Given the description of an element on the screen output the (x, y) to click on. 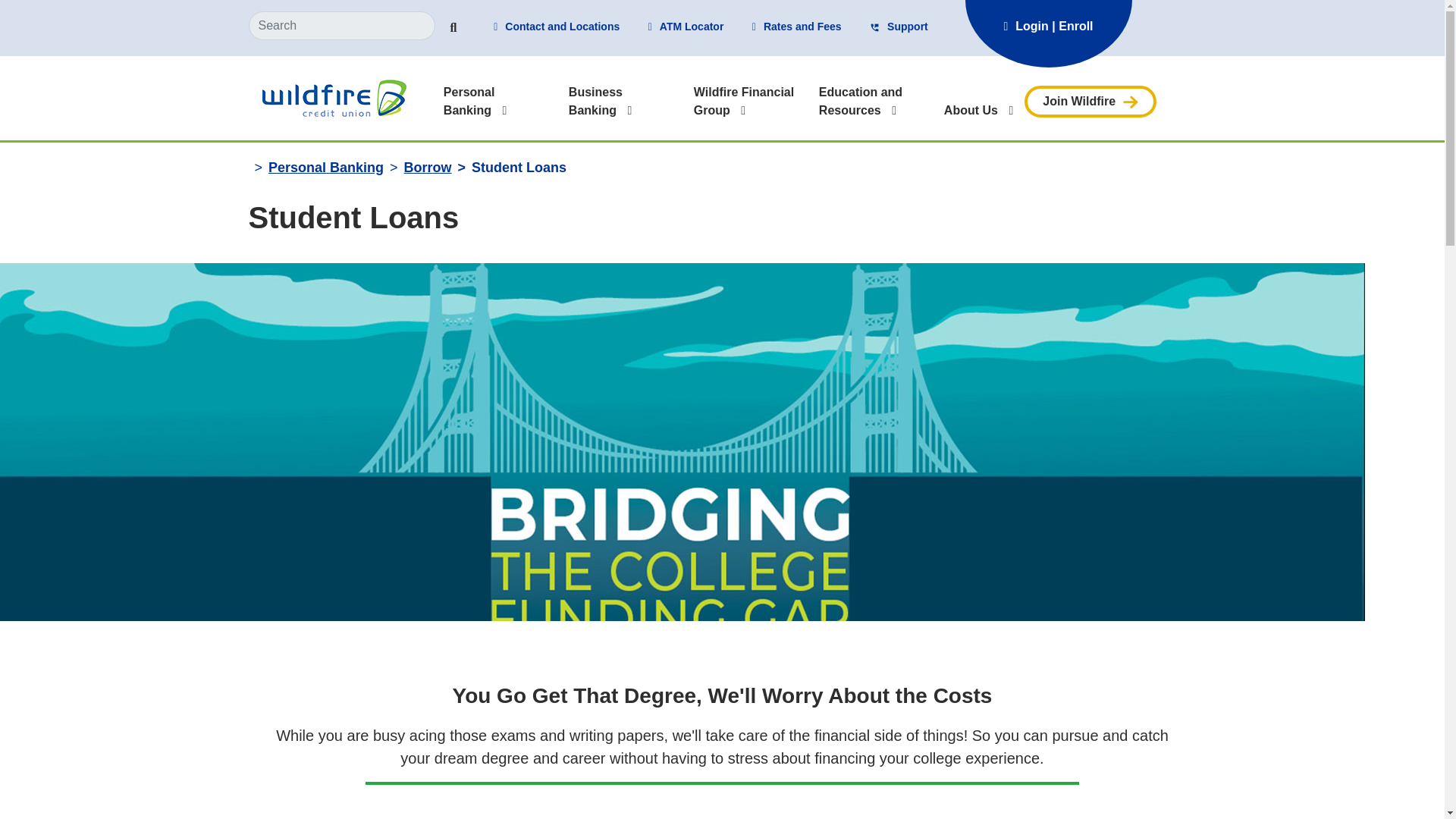
ATM Locator (685, 26)
Contact and Locations (556, 26)
Search input (341, 25)
Personal Banking (469, 101)
Support (898, 26)
Rates and Fees (796, 26)
Tap or click to go to online application (1090, 101)
